Given the description of an element on the screen output the (x, y) to click on. 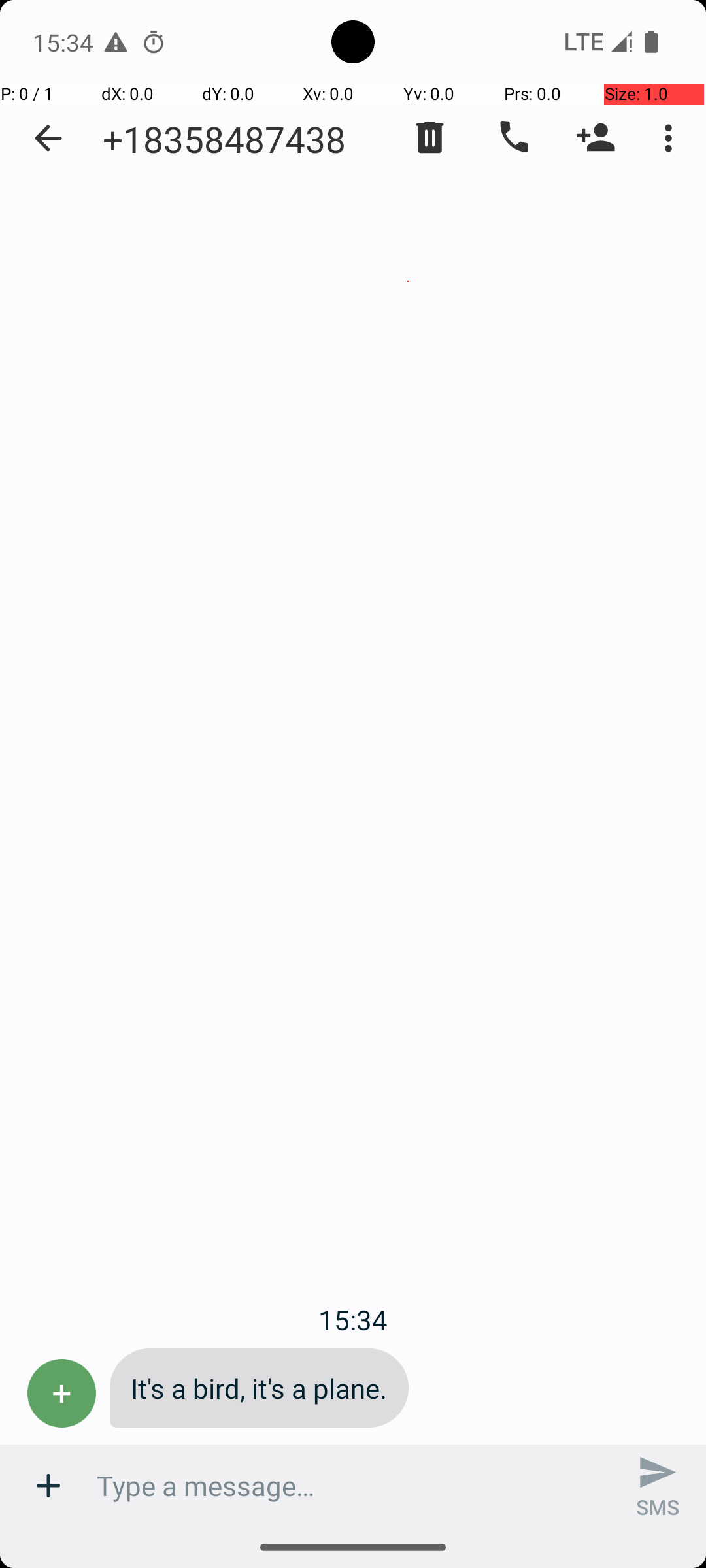
+18358487438 Element type: android.widget.TextView (223, 138)
